Given the description of an element on the screen output the (x, y) to click on. 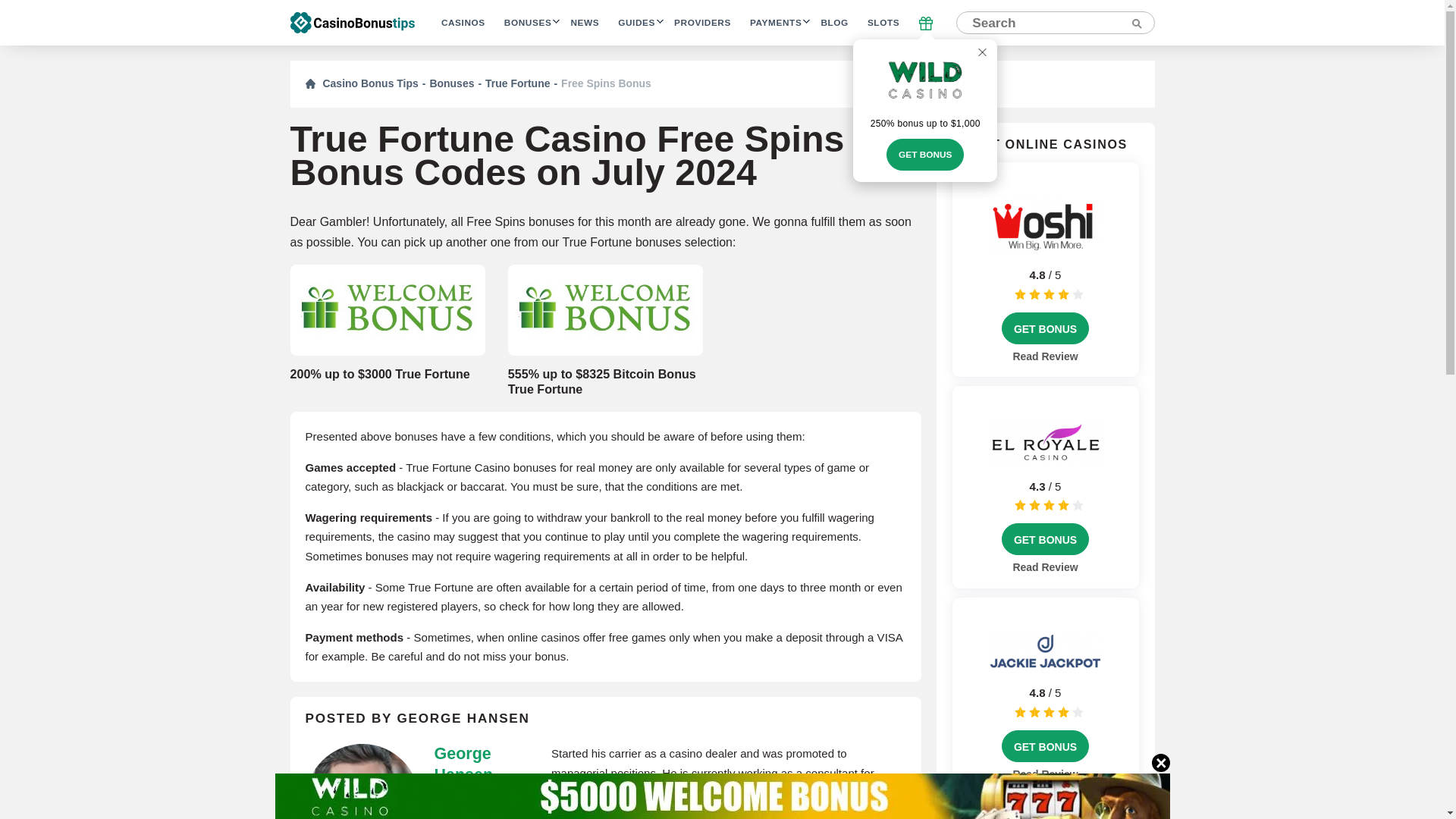
BONUSES (527, 22)
PROVIDERS (702, 22)
NEWS (584, 22)
PAYMENTS (775, 22)
BLOG (834, 22)
CASINOS (462, 22)
SLOTS (883, 22)
GUIDES (636, 22)
